Given the description of an element on the screen output the (x, y) to click on. 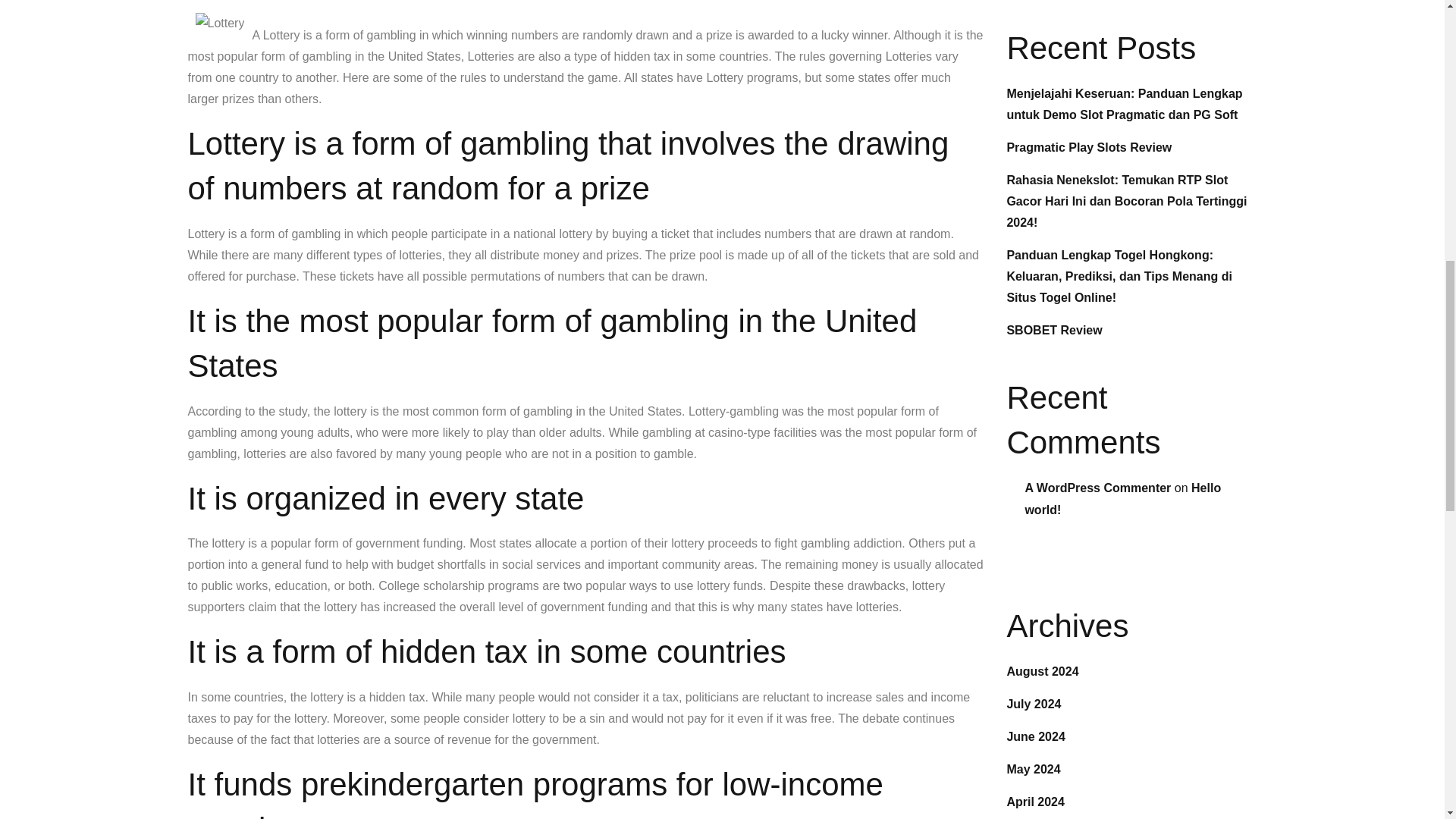
Hello world! (1123, 498)
Pragmatic Play Slots Review (1089, 146)
May 2024 (1032, 768)
July 2024 (1033, 703)
SBOBET Review (1054, 329)
April 2024 (1035, 801)
June 2024 (1035, 736)
August 2024 (1042, 671)
